Given the description of an element on the screen output the (x, y) to click on. 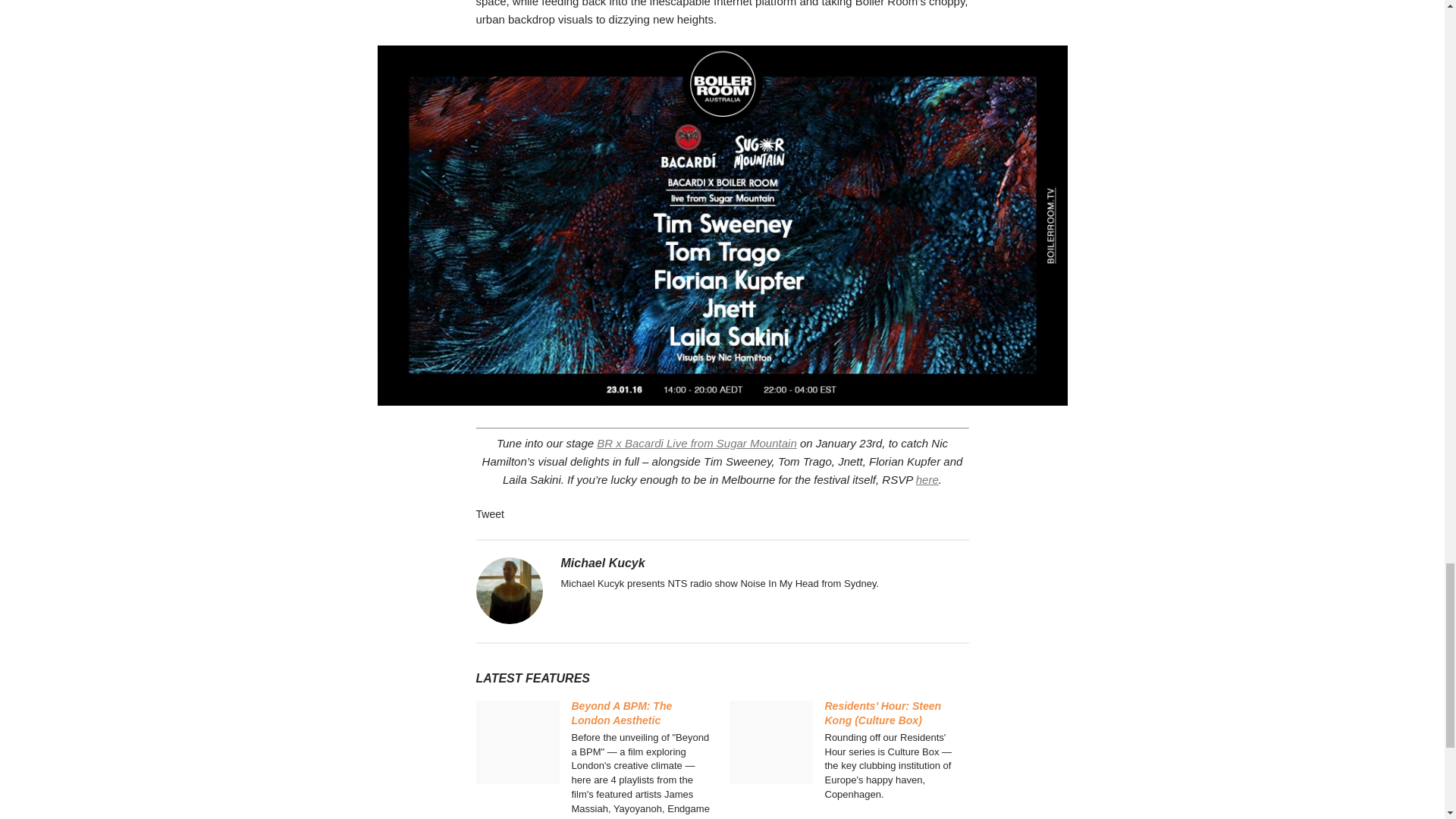
BR x Bacardi Live from Sugar Mountain (696, 442)
Tweet (489, 513)
here (927, 479)
Beyond A BPM: The London Aesthetic (622, 712)
